Given the description of an element on the screen output the (x, y) to click on. 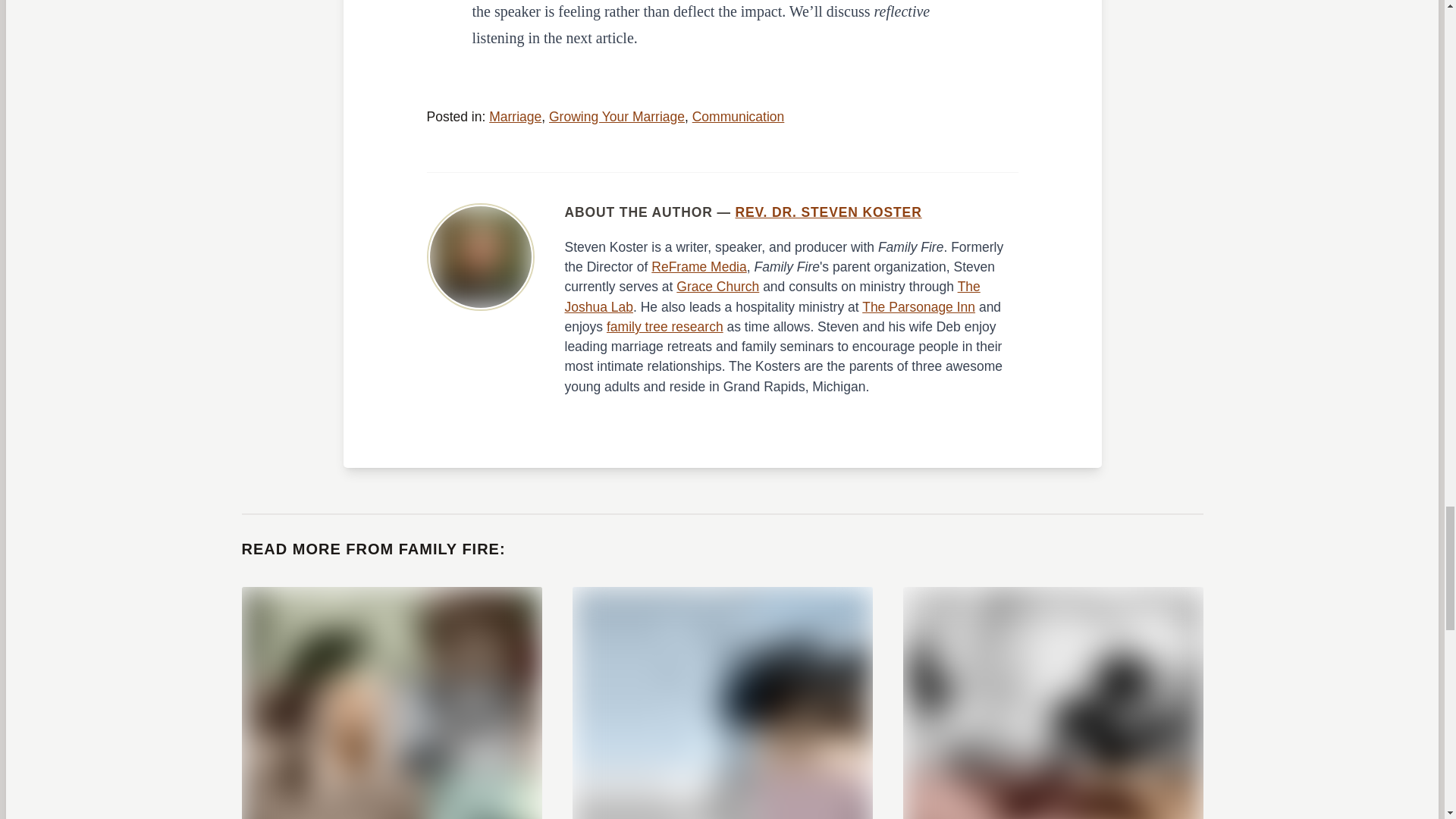
Marriage (515, 116)
Grace Church (717, 286)
The Parsonage Inn (918, 306)
family tree research (665, 326)
REV. DR. STEVEN KOSTER (828, 212)
Communication (738, 116)
Growing Your Marriage (616, 116)
ReFrame Media (697, 266)
